Given the description of an element on the screen output the (x, y) to click on. 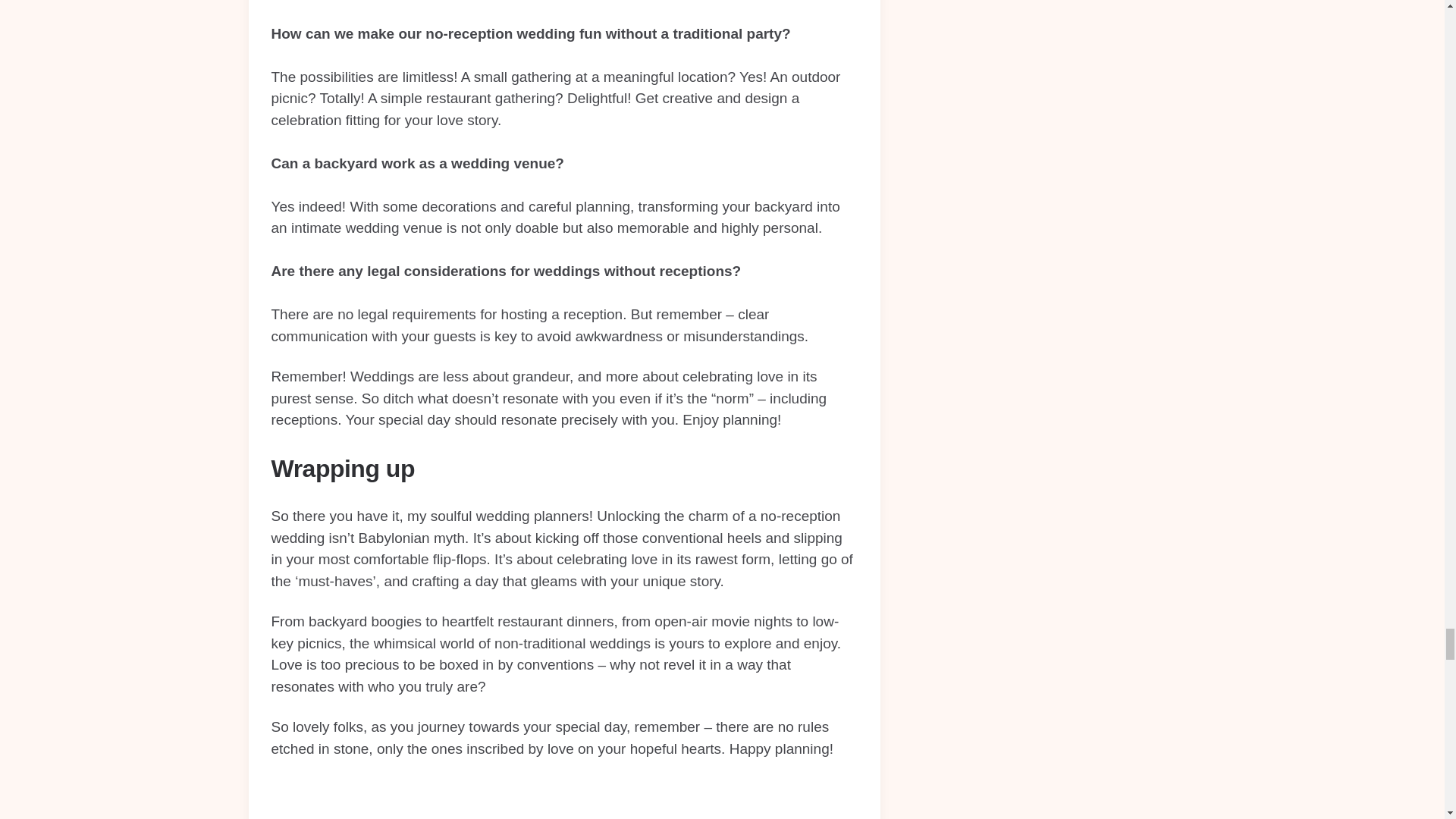
NONTRADITIONAL WEDDING IDEAS for Modern Couples (564, 798)
